Given the description of an element on the screen output the (x, y) to click on. 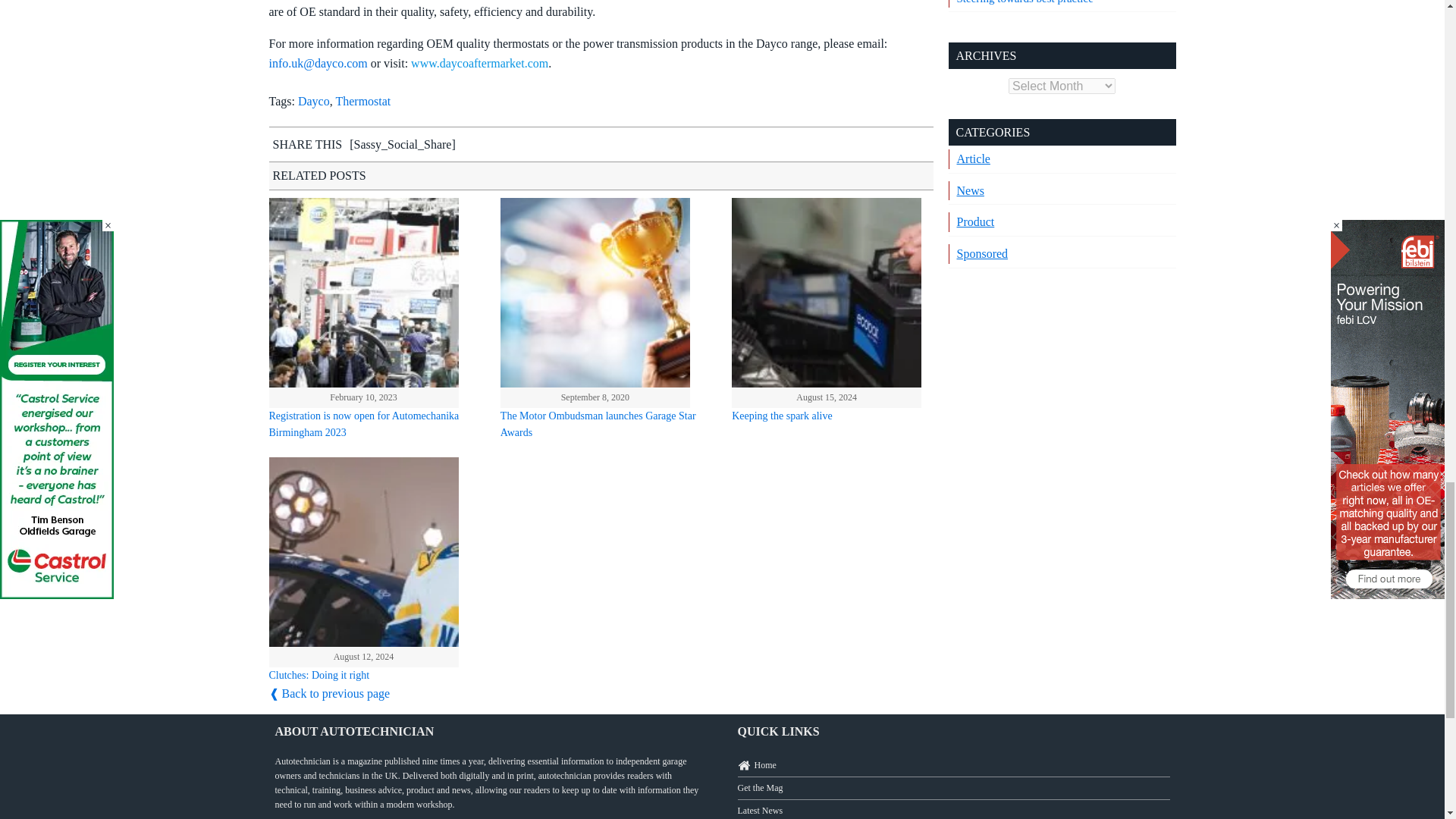
Dayco (314, 101)
www.daycoaftermarket.com (479, 62)
Thermostat (362, 101)
